Given the description of an element on the screen output the (x, y) to click on. 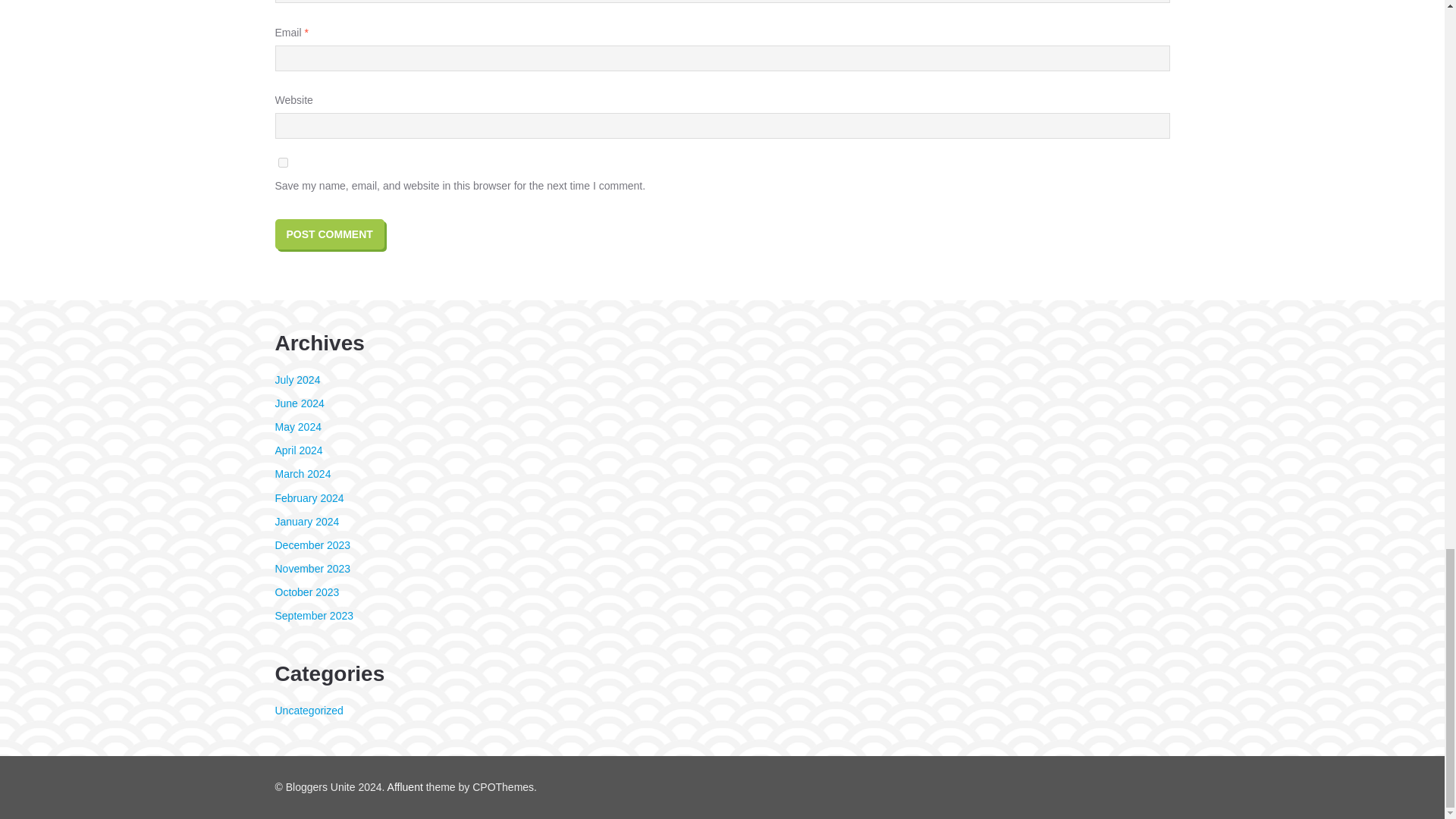
November 2023 (312, 568)
September 2023 (314, 615)
Affluent (405, 787)
July 2024 (297, 379)
March 2024 (302, 473)
April 2024 (298, 450)
October 2023 (307, 592)
May 2024 (297, 426)
February 2024 (309, 498)
December 2023 (312, 544)
Uncategorized (308, 710)
June 2024 (299, 403)
Post Comment (329, 234)
January 2024 (307, 521)
Post Comment (329, 234)
